Given the description of an element on the screen output the (x, y) to click on. 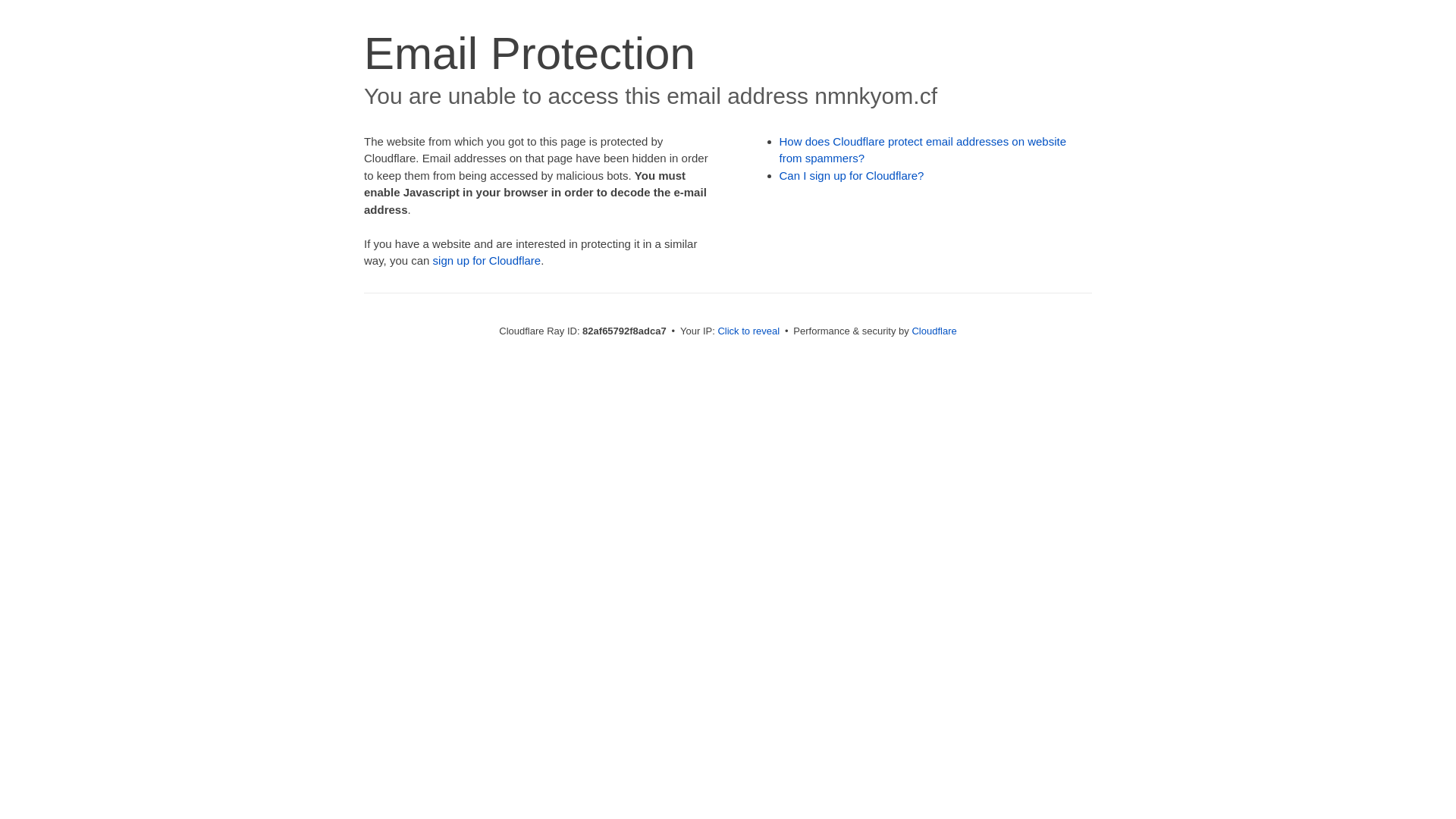
Can I sign up for Cloudflare? Element type: text (851, 175)
sign up for Cloudflare Element type: text (487, 260)
Click to reveal Element type: text (748, 330)
Cloudflare Element type: text (933, 330)
